Given the description of an element on the screen output the (x, y) to click on. 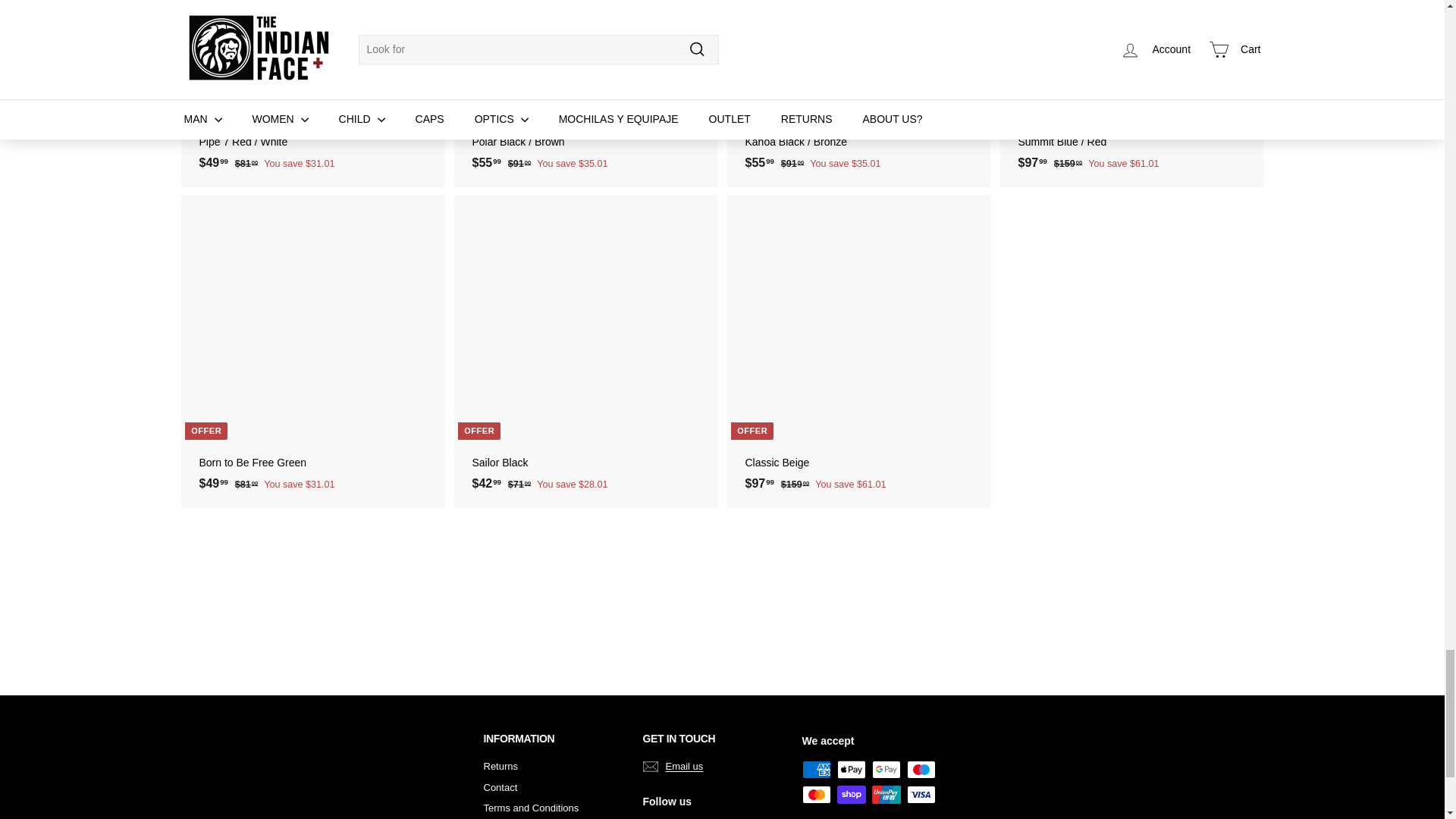
Union Pay (886, 794)
American Express (816, 769)
Maestro (921, 769)
Apple Pay (851, 769)
Google Pay (886, 769)
Shop Pay (851, 794)
Mastercard (816, 794)
